Given the description of an element on the screen output the (x, y) to click on. 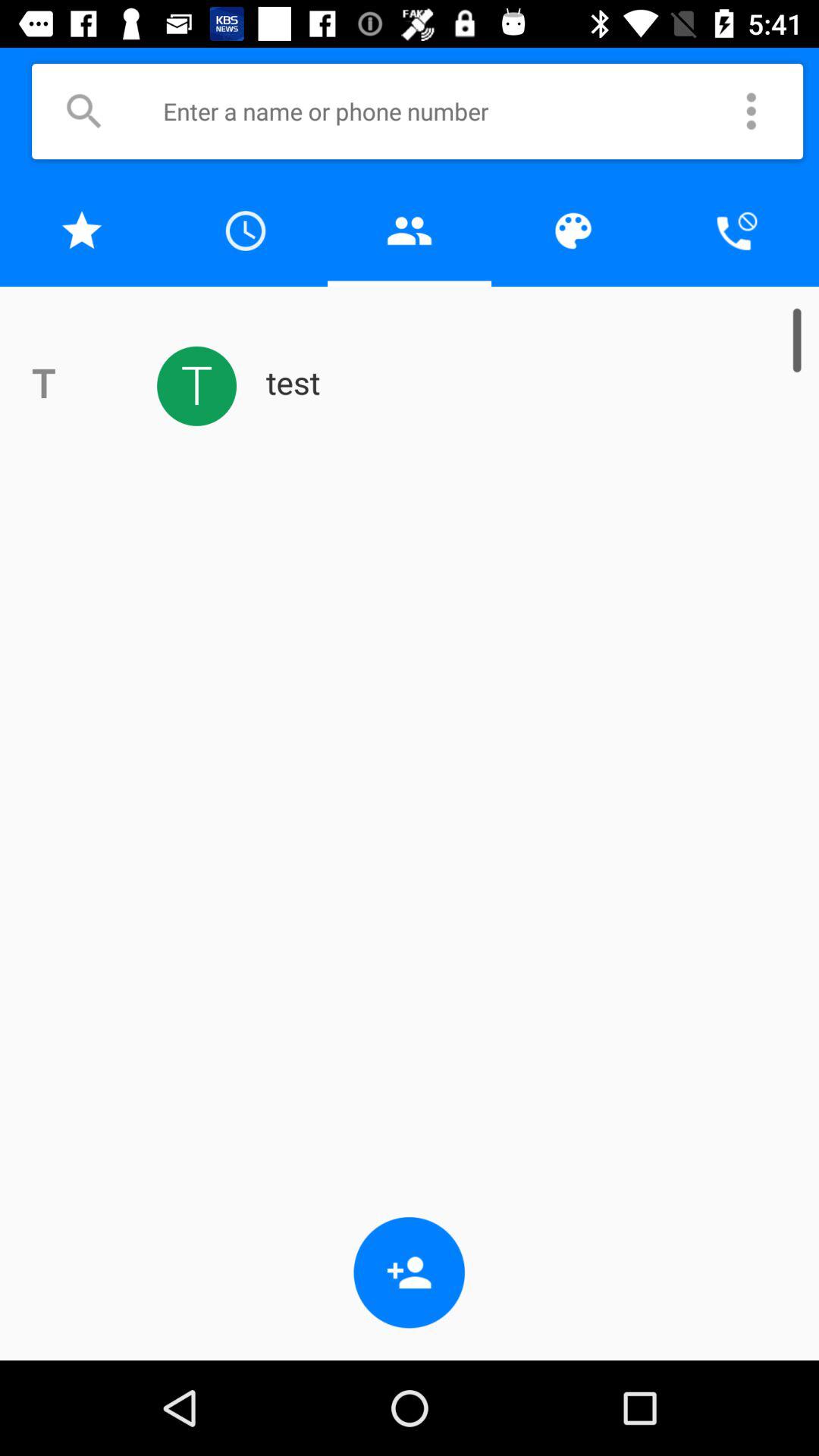
launch the app above the test item (409, 230)
